Given the description of an element on the screen output the (x, y) to click on. 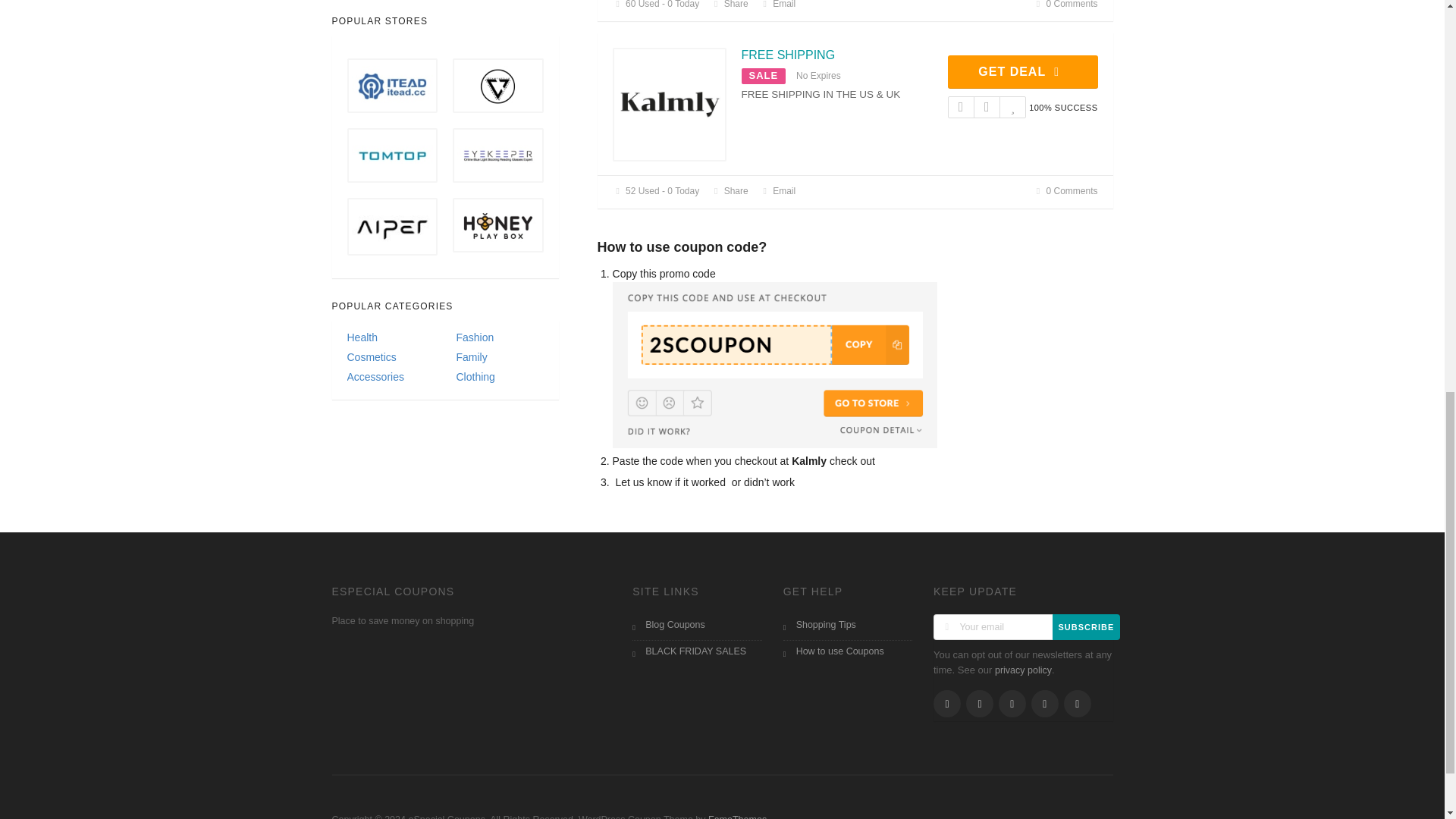
Coupon Comments (1064, 4)
0 Comments (1064, 4)
Send this coupon to an email (778, 4)
Share (729, 4)
Share it with your friend (729, 4)
Email (778, 4)
